Given the description of an element on the screen output the (x, y) to click on. 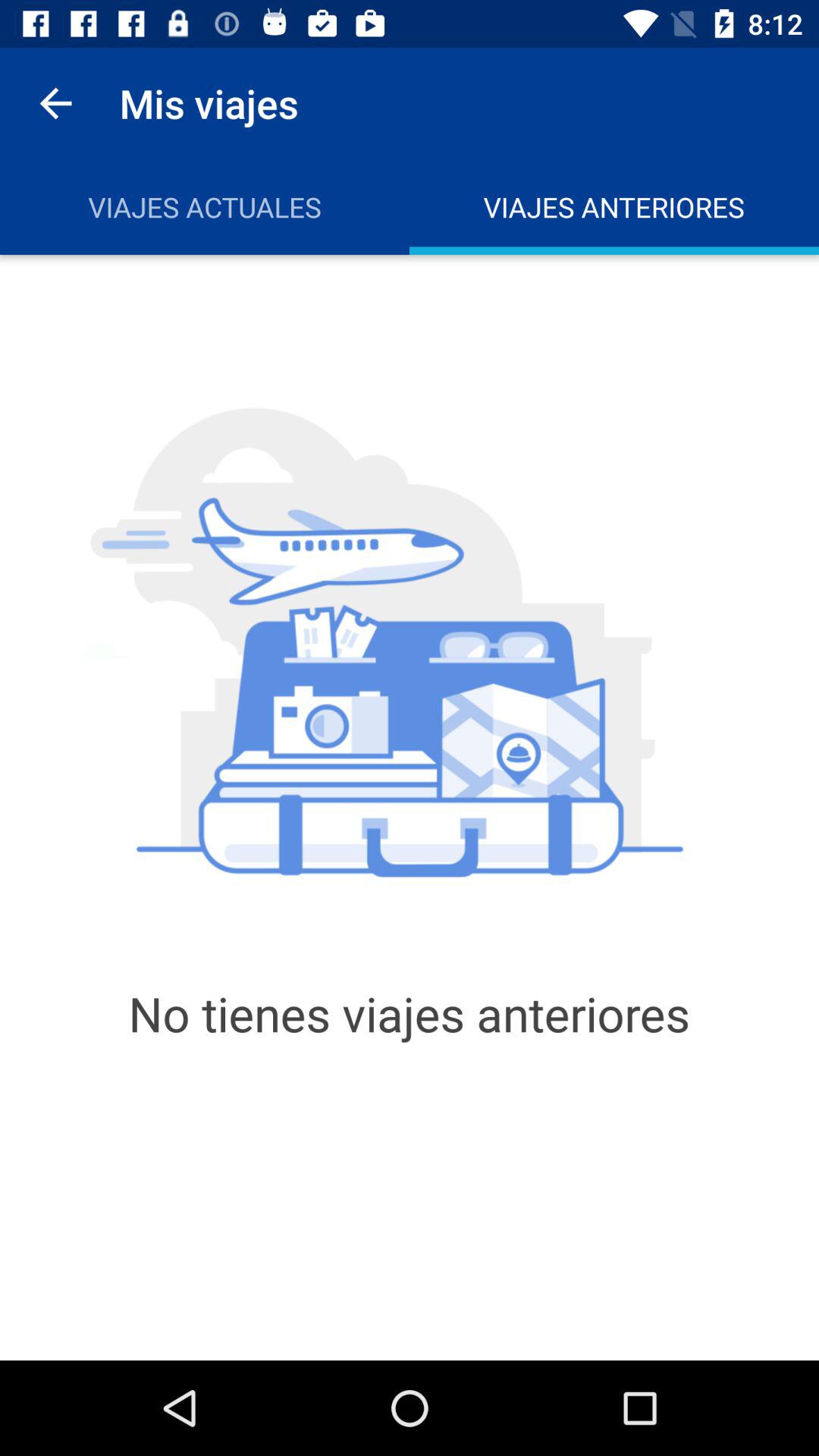
press icon above viajes actuales icon (55, 103)
